Given the description of an element on the screen output the (x, y) to click on. 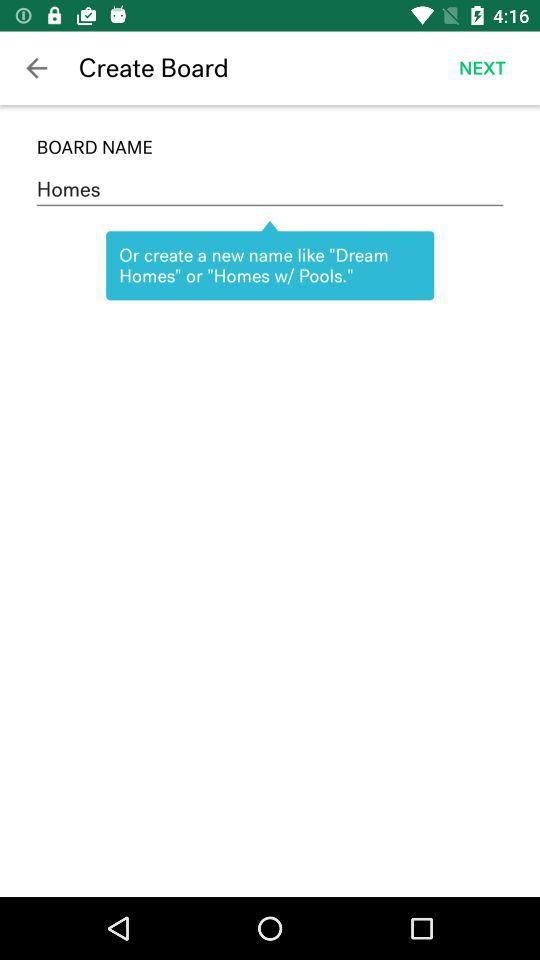
scroll until the next (482, 68)
